Given the description of an element on the screen output the (x, y) to click on. 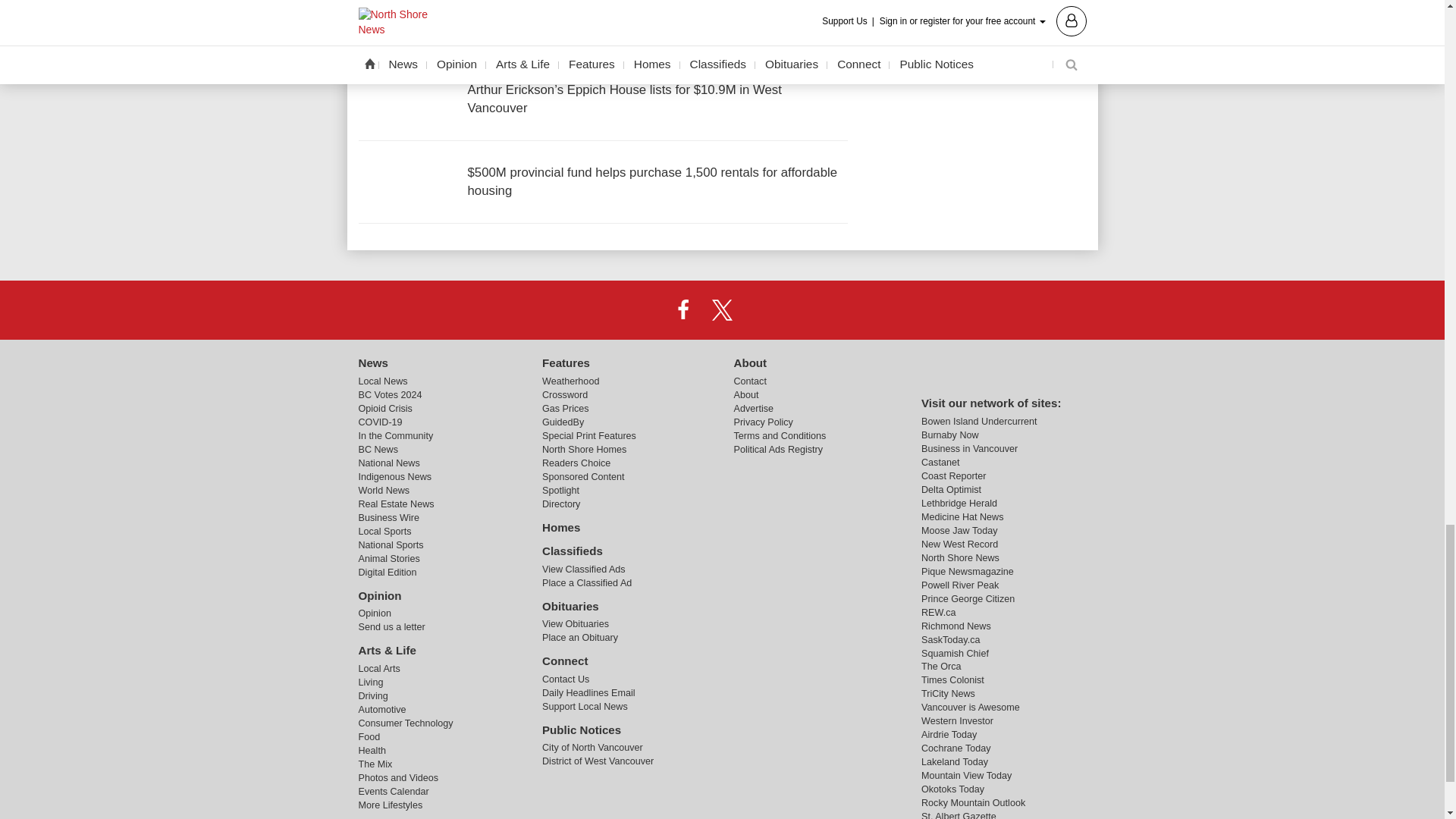
Facebook (683, 309)
X (721, 309)
Instagram (760, 309)
